Given the description of an element on the screen output the (x, y) to click on. 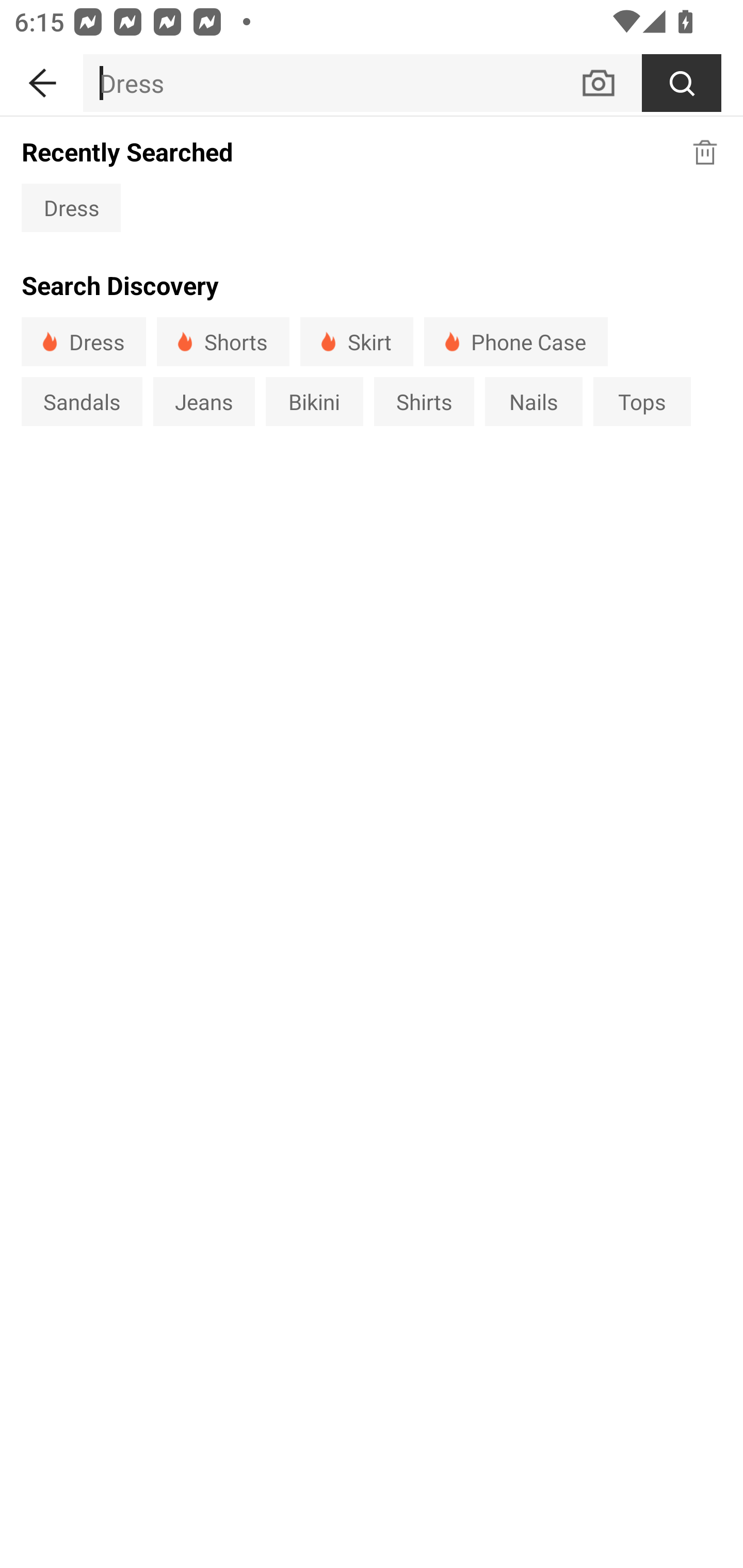
BACK (41, 79)
Dress (330, 82)
Recently Searched Dress Dress (371, 183)
Dress (70, 207)
Dress (83, 341)
Shorts (222, 341)
Skirt (356, 341)
Phone Case (515, 341)
Sandals (81, 401)
Jeans (203, 401)
Bikini (314, 401)
Shirts (423, 401)
Nails (533, 401)
Tops (641, 401)
